Given the description of an element on the screen output the (x, y) to click on. 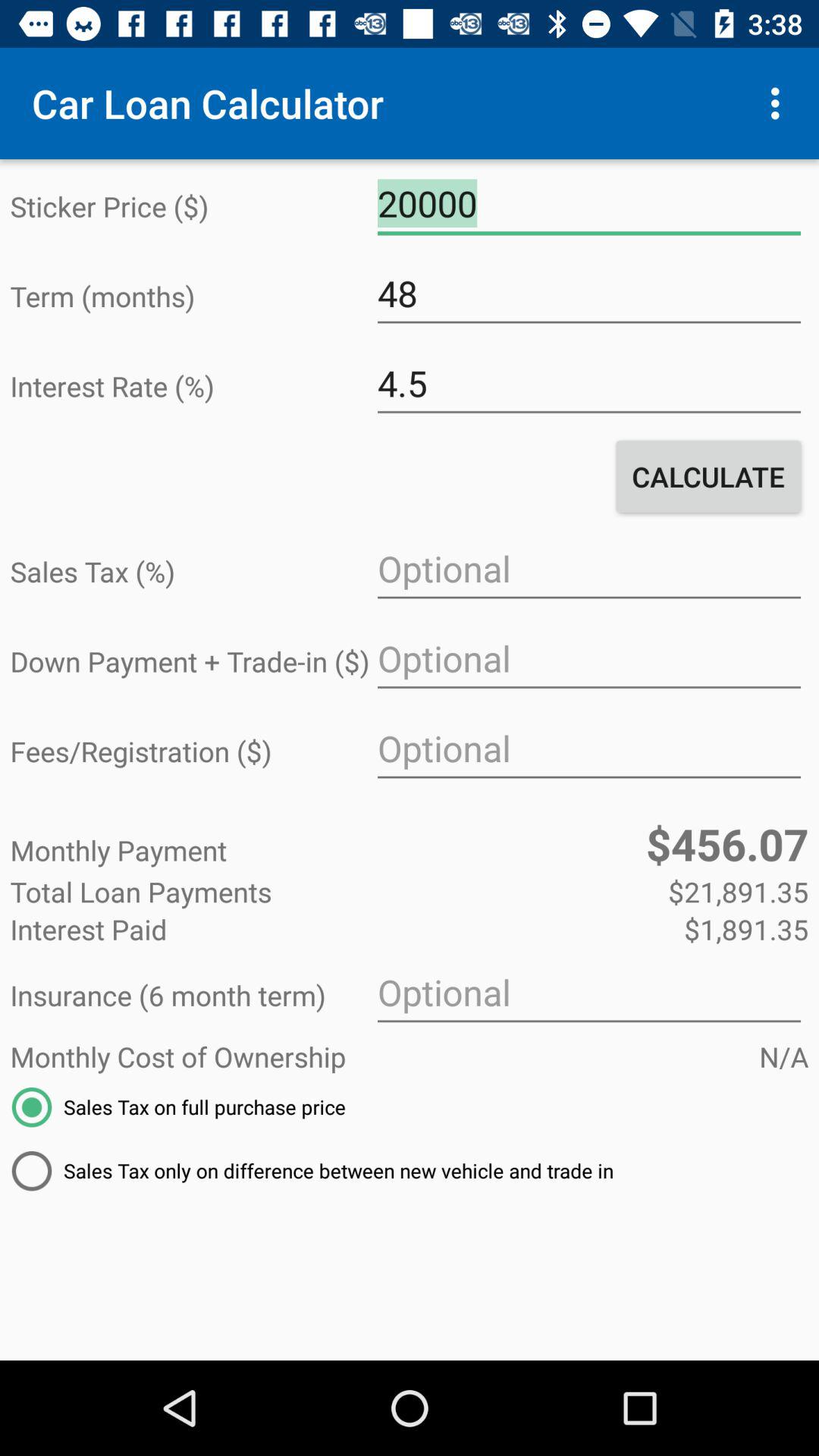
press the item next to the down payment trade (588, 659)
